Given the description of an element on the screen output the (x, y) to click on. 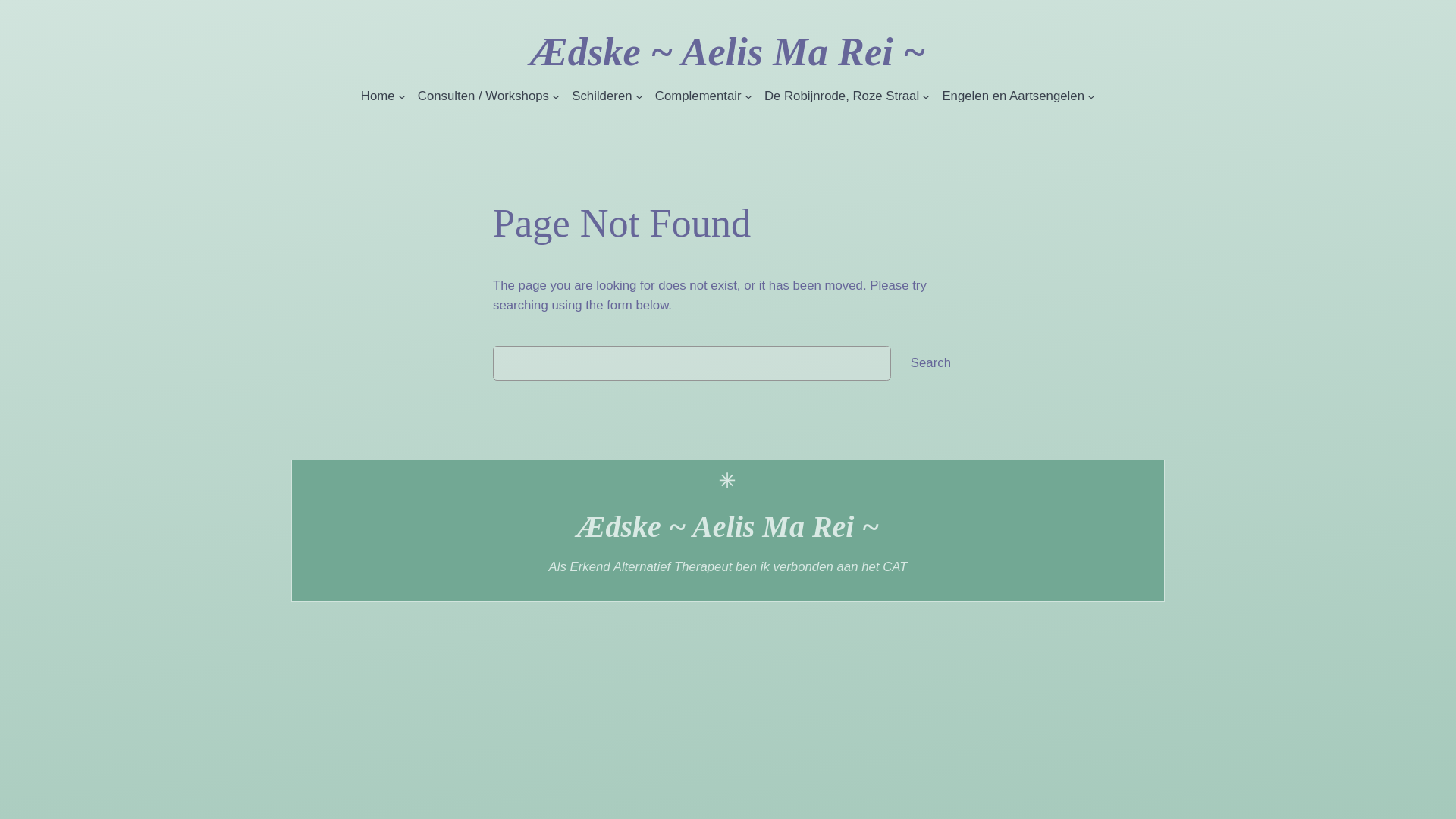
Home (377, 96)
Schilderen (601, 96)
Complementair (698, 96)
